Given the description of an element on the screen output the (x, y) to click on. 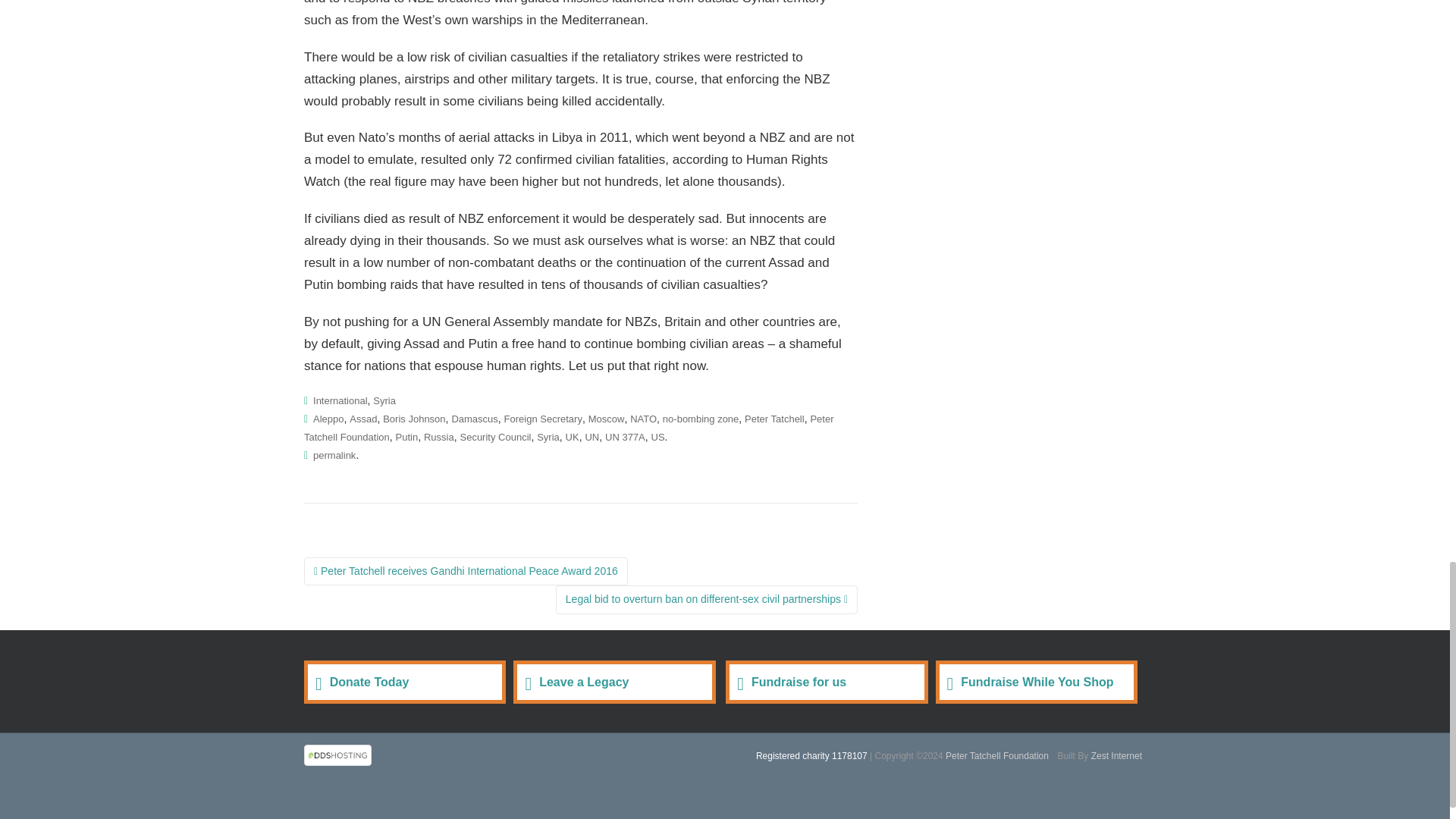
Donate Today (404, 681)
Fundraise for us (826, 681)
Leave a Legacy (613, 681)
